Given the description of an element on the screen output the (x, y) to click on. 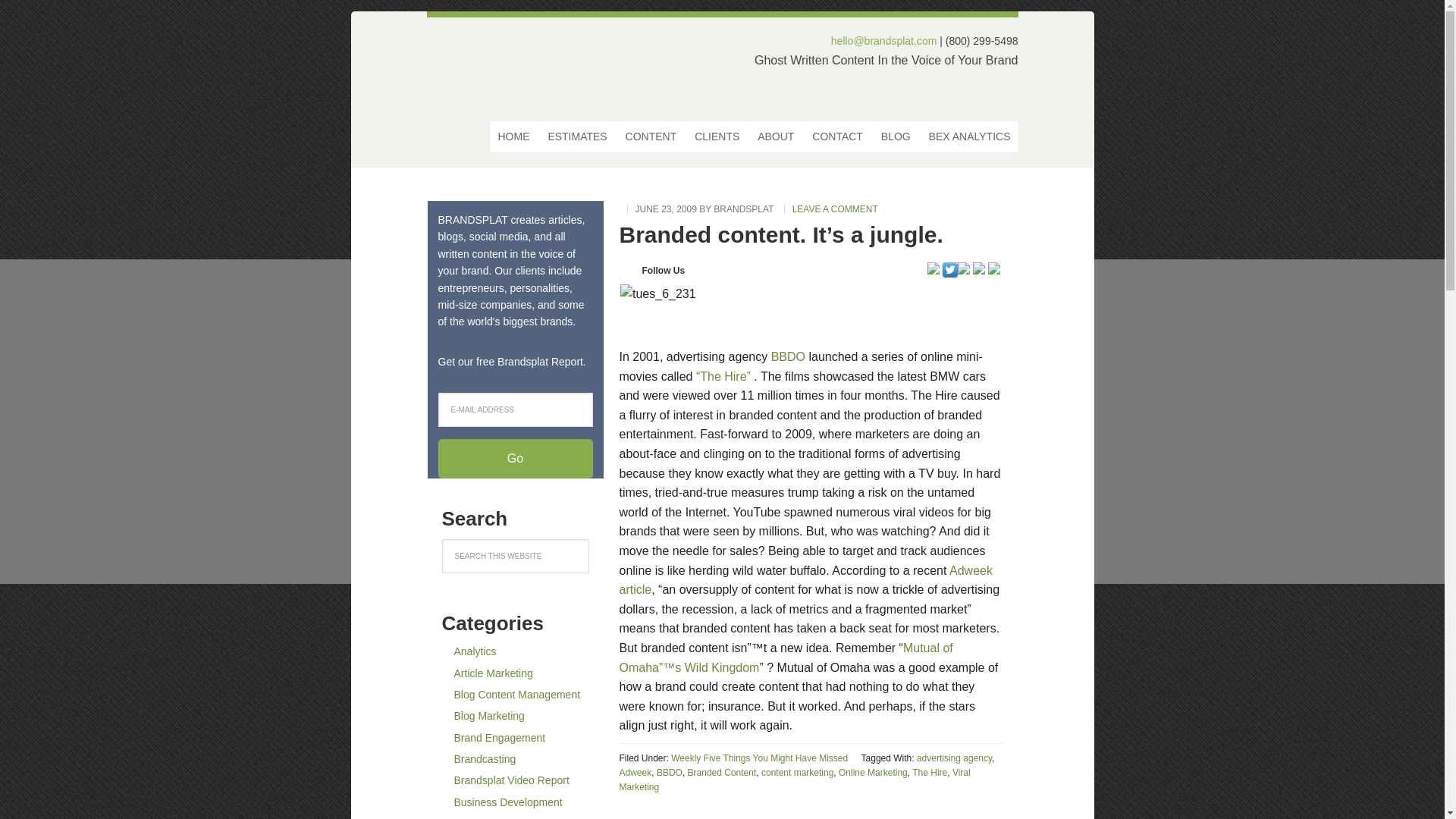
LEAVE A COMMENT (830, 208)
Blog Content Management (515, 694)
Adweek article (804, 580)
Branded Content (722, 772)
content marketing (796, 772)
Adweek (634, 772)
Online Marketing (872, 772)
Brandcasting (483, 758)
ABOUT (775, 136)
